Given the description of an element on the screen output the (x, y) to click on. 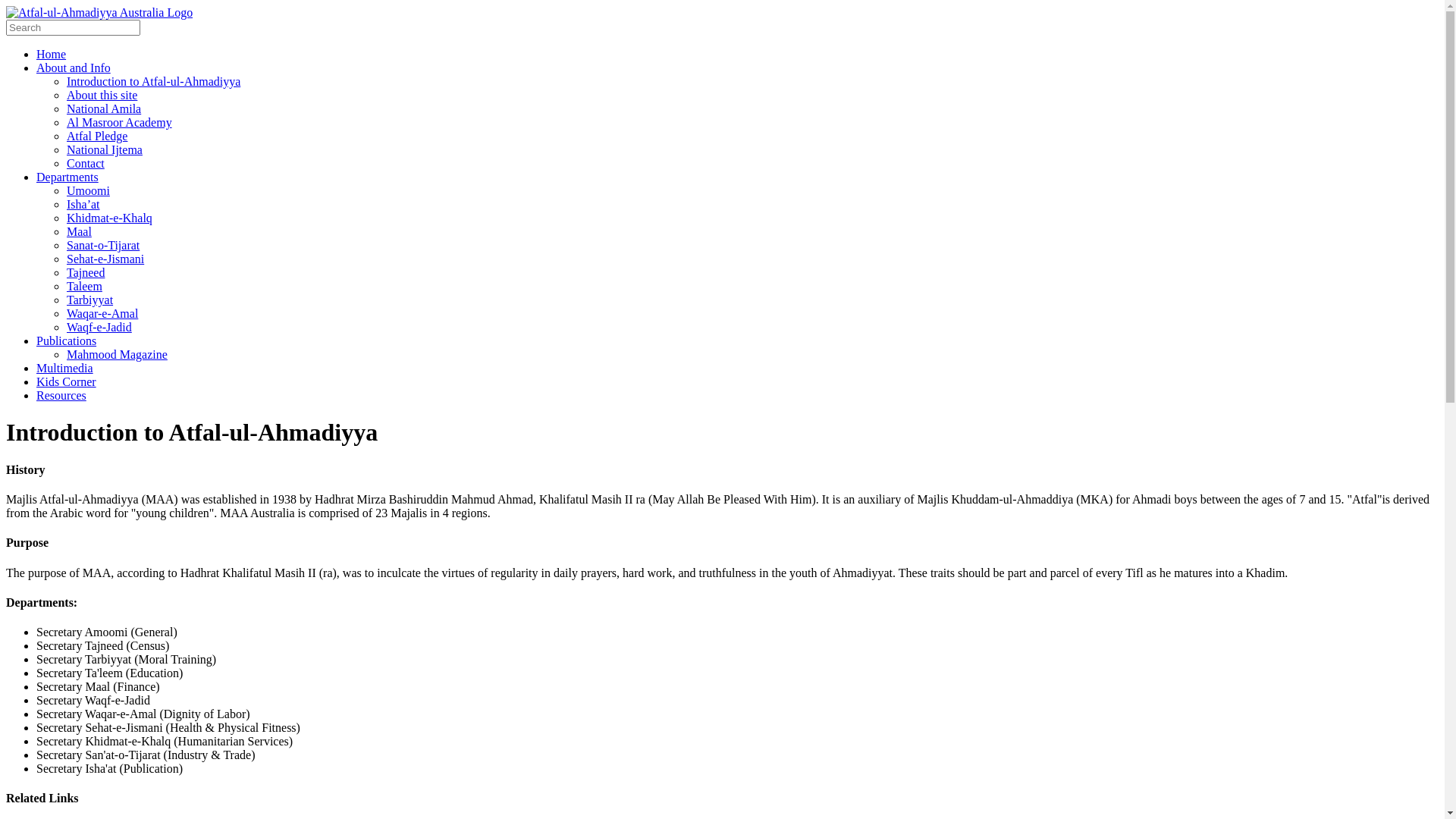
Tarbiyyat Element type: text (89, 299)
Sehat-e-Jismani Element type: text (105, 258)
Contact Element type: text (85, 162)
Atfal Pledge Element type: text (96, 135)
National Ijtema Element type: text (104, 149)
Maal Element type: text (78, 231)
Tajneed Element type: text (85, 272)
Resources Element type: text (61, 395)
Publications Element type: text (66, 340)
Mahmood Magazine Element type: text (116, 354)
Atfal-ul-Ahmadiyya Australia Element type: hover (99, 12)
National Amila Element type: text (103, 108)
About and Info Element type: text (73, 67)
Kids Corner Element type: text (66, 381)
Home Element type: text (50, 53)
About this site Element type: text (101, 94)
Al Masroor Academy Element type: text (119, 122)
Introduction to Atfal-ul-Ahmadiyya Element type: text (153, 81)
Khidmat-e-Khalq Element type: text (109, 217)
Waqar-e-Amal Element type: text (102, 313)
Waqf-e-Jadid Element type: text (98, 326)
Umoomi Element type: text (87, 190)
Taleem Element type: text (84, 285)
Sanat-o-Tijarat Element type: text (102, 244)
Multimedia Element type: text (64, 367)
Departments Element type: text (67, 176)
